Given the description of an element on the screen output the (x, y) to click on. 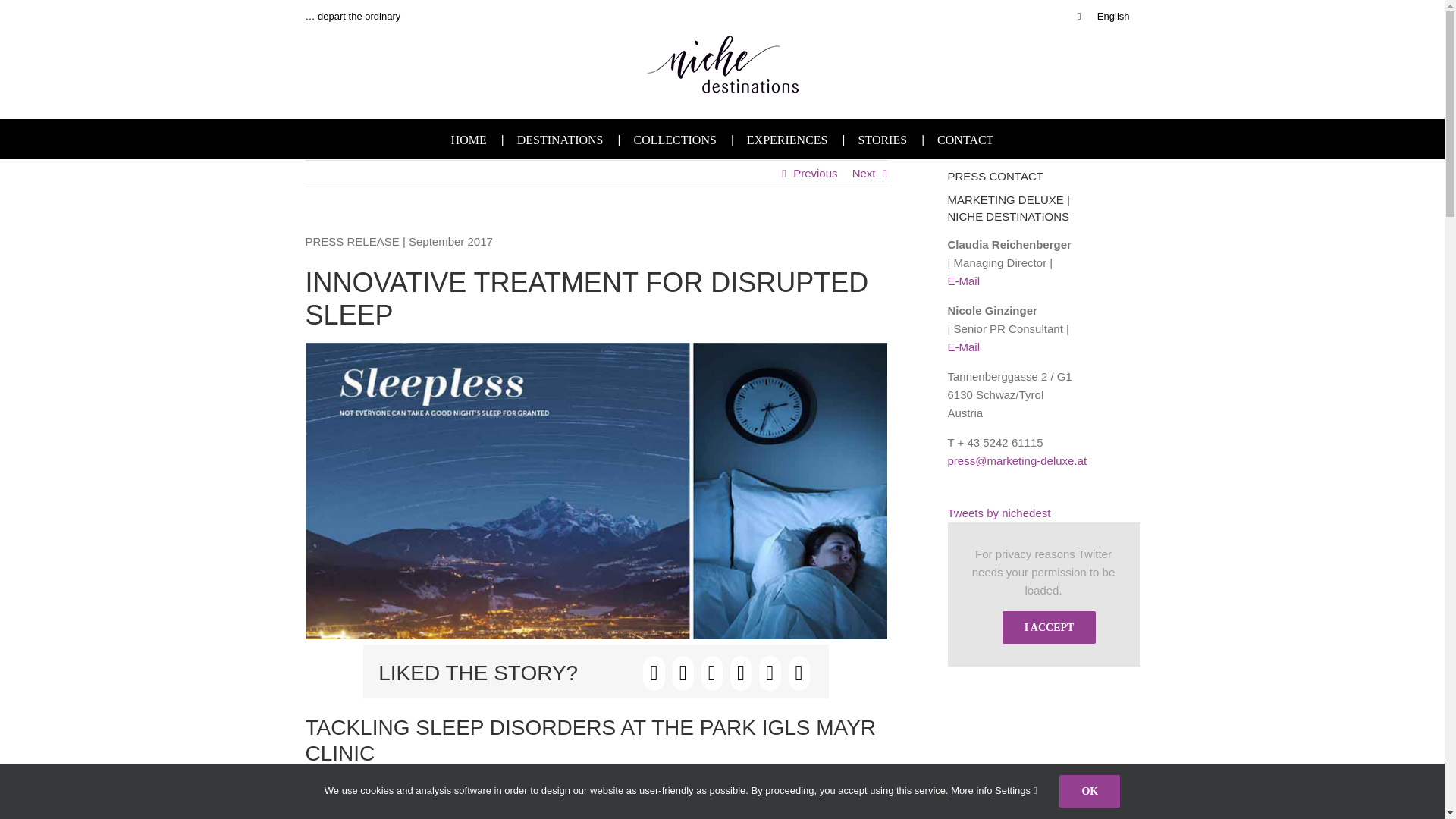
DESTINATIONS (560, 138)
COLLECTIONS (674, 138)
English (1103, 16)
EXPERIENCES (787, 138)
